Given the description of an element on the screen output the (x, y) to click on. 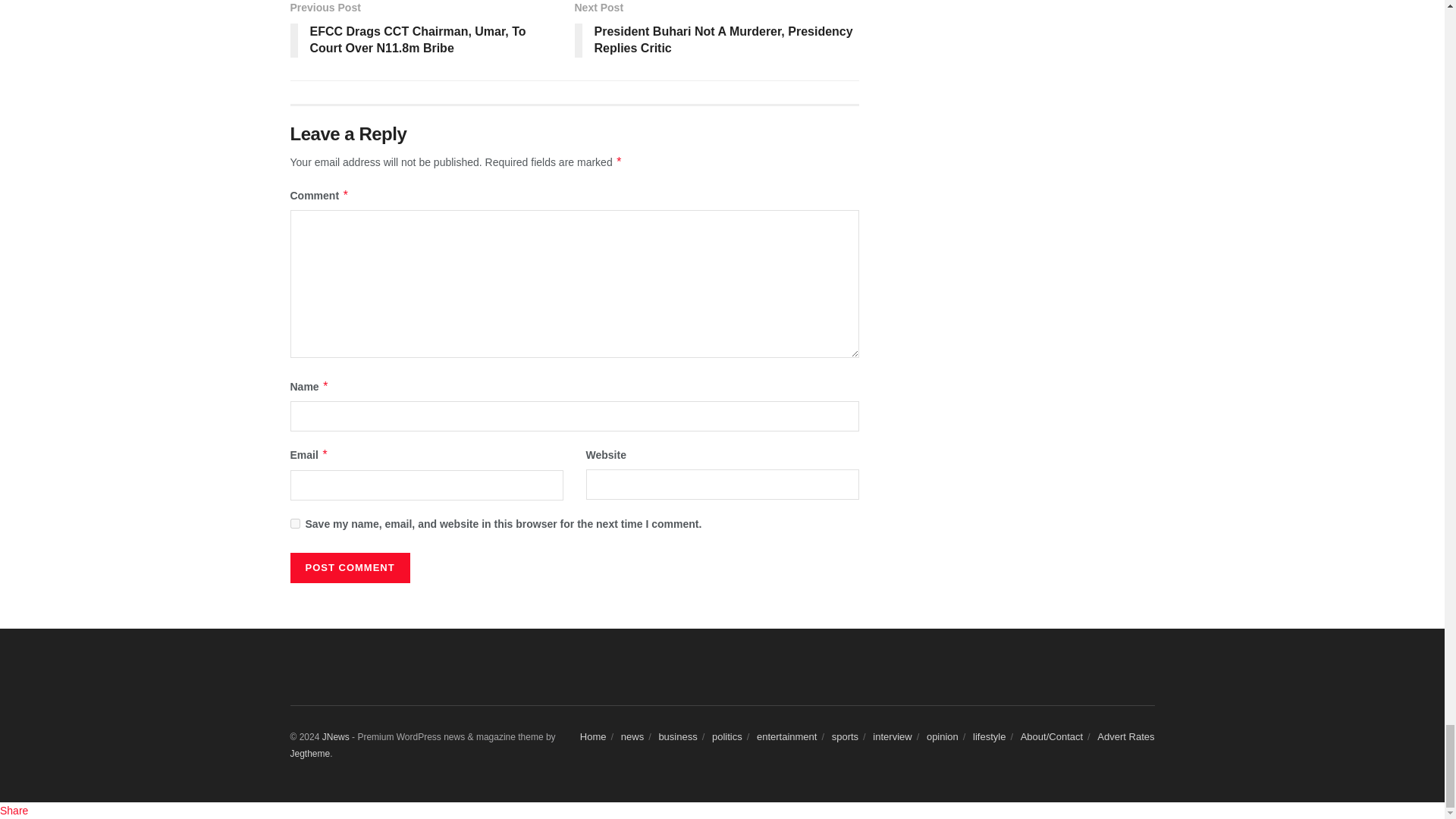
Post Comment (349, 567)
Jegtheme (309, 753)
yes (294, 523)
